Given the description of an element on the screen output the (x, y) to click on. 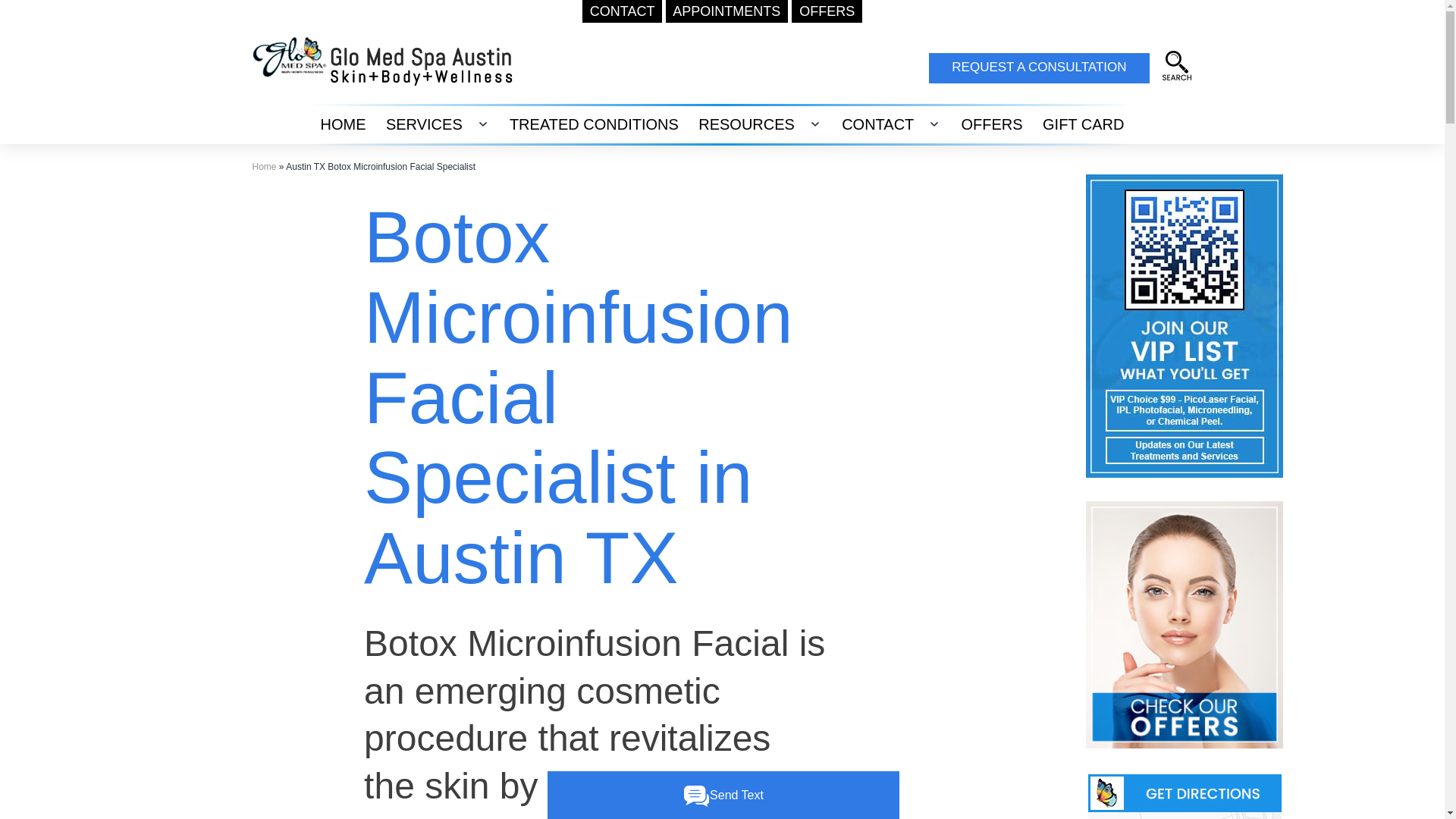
TREATED CONDITIONS (593, 124)
Glo Med Spa and Wellness Center Located in Austin, TX (1176, 65)
Open menu (482, 124)
CONTACT (877, 124)
SERVICES (423, 124)
OFFERS (826, 11)
HOME (342, 124)
Open menu (814, 124)
REQUEST A CONSULTATION (1038, 68)
RESOURCES (746, 124)
CONTACT (622, 11)
APPOINTMENTS (726, 11)
